Given the description of an element on the screen output the (x, y) to click on. 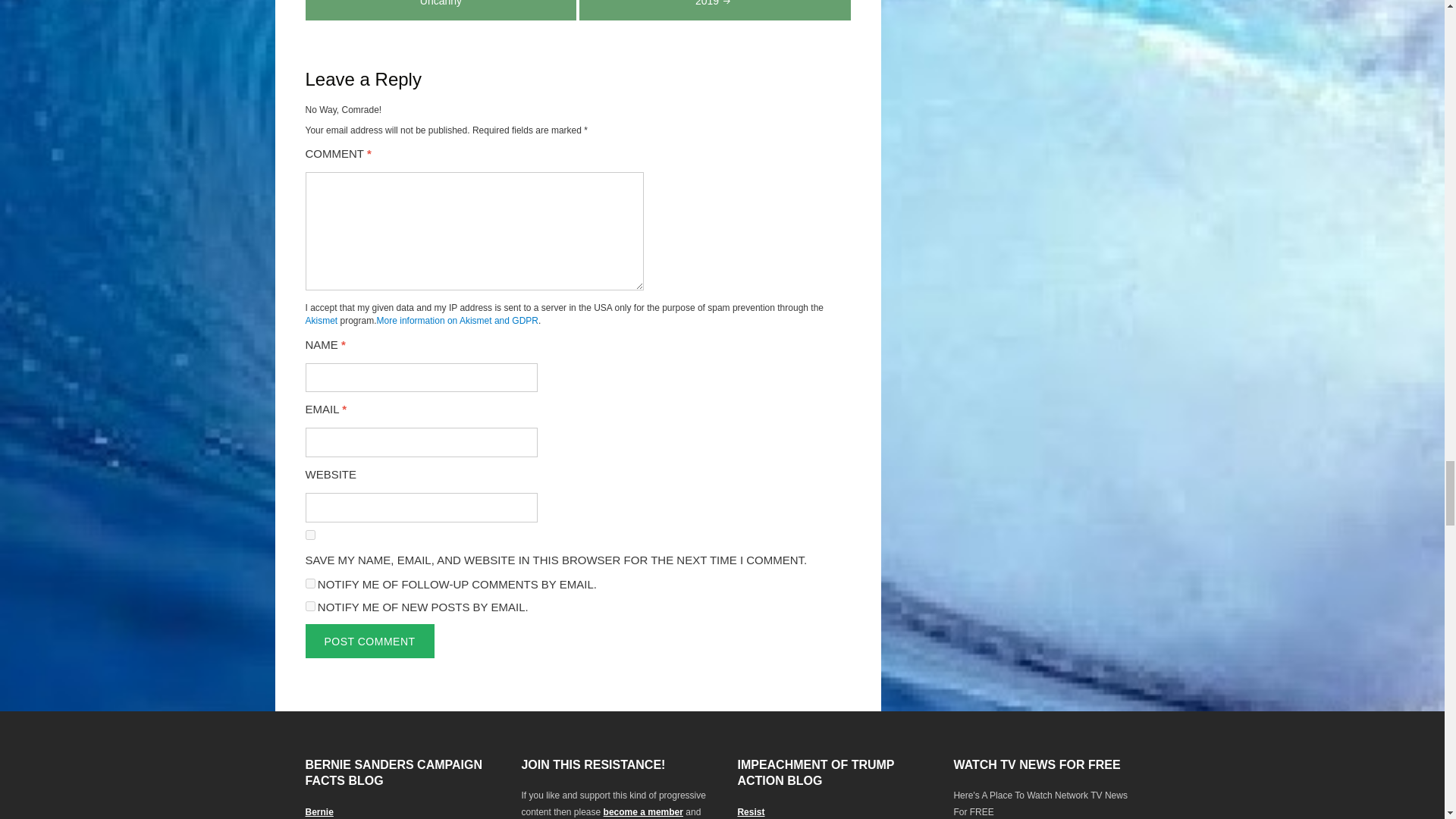
Post Comment (368, 641)
yes (309, 534)
subscribe (309, 583)
subscribe (309, 605)
